Given the description of an element on the screen output the (x, y) to click on. 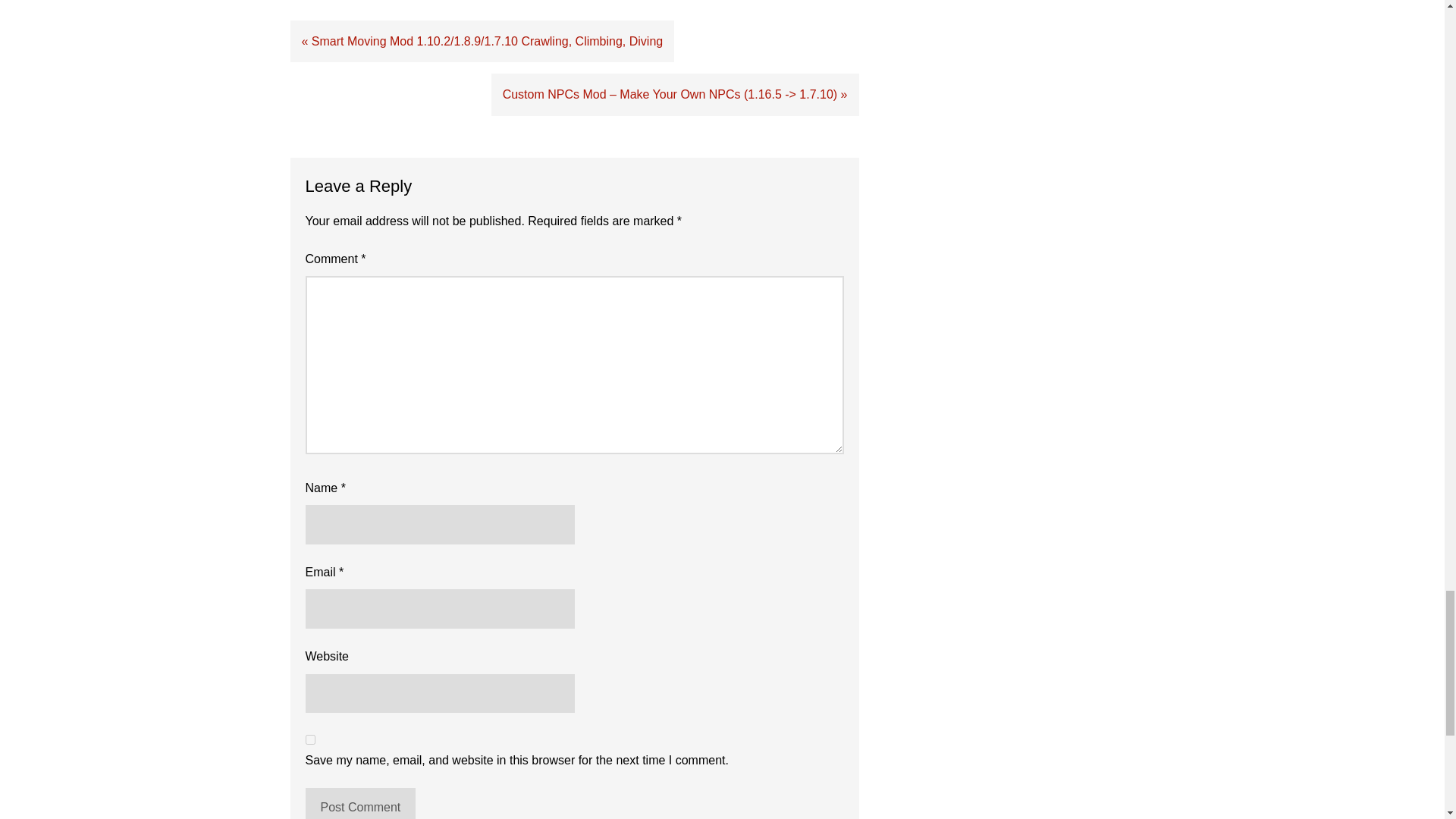
Post Comment (359, 803)
yes (309, 739)
